Given the description of an element on the screen output the (x, y) to click on. 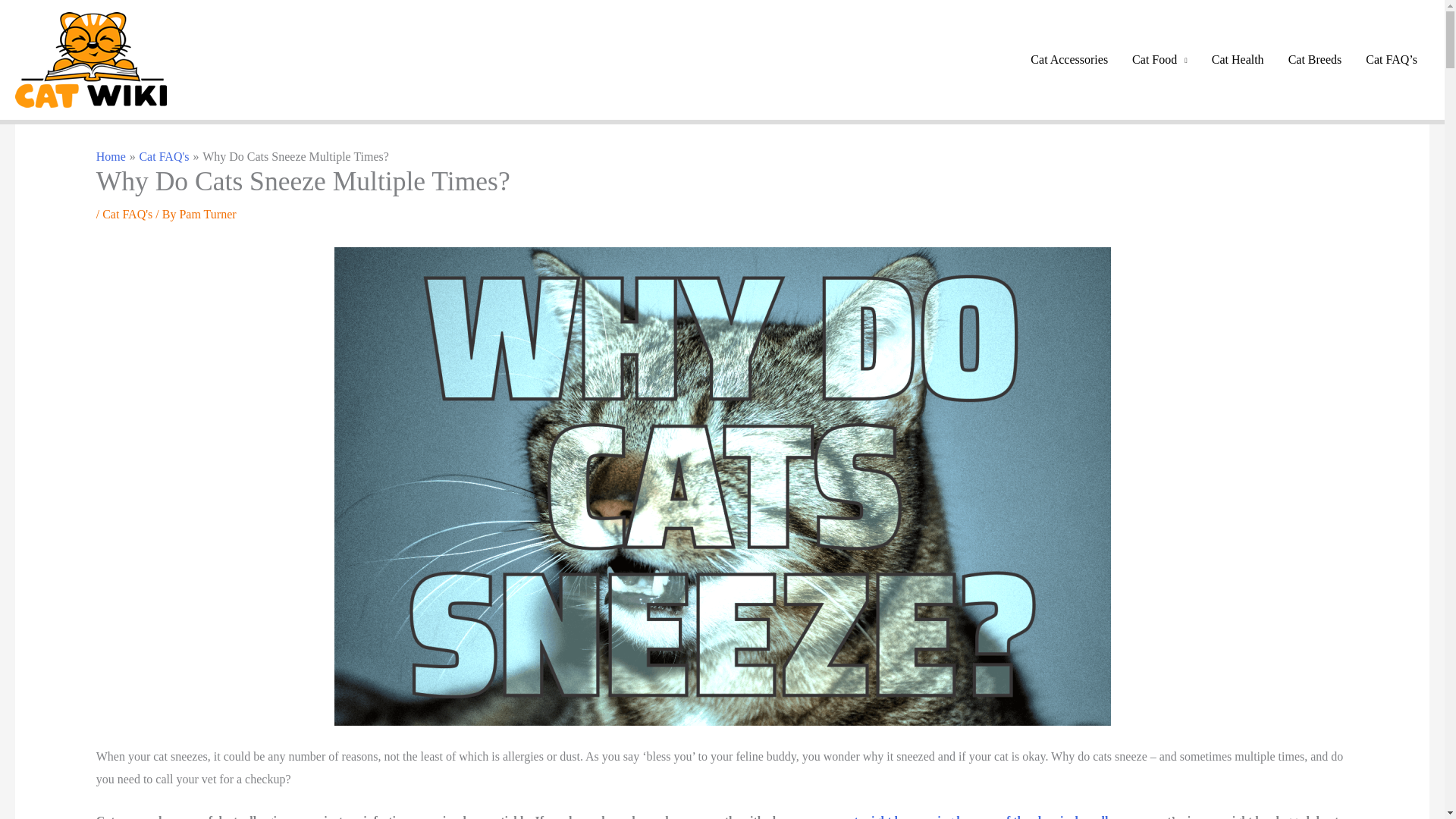
Pam Turner (207, 214)
Home (110, 155)
Cat Health (1237, 60)
Cat FAQ's (163, 155)
View all posts by Pam Turner (207, 214)
Cat Breeds (1315, 60)
Cat Food (1159, 60)
Cat FAQ's (126, 214)
cat might be sneezing because of the chemical smell (975, 816)
Cat Accessories (1068, 60)
